Given the description of an element on the screen output the (x, y) to click on. 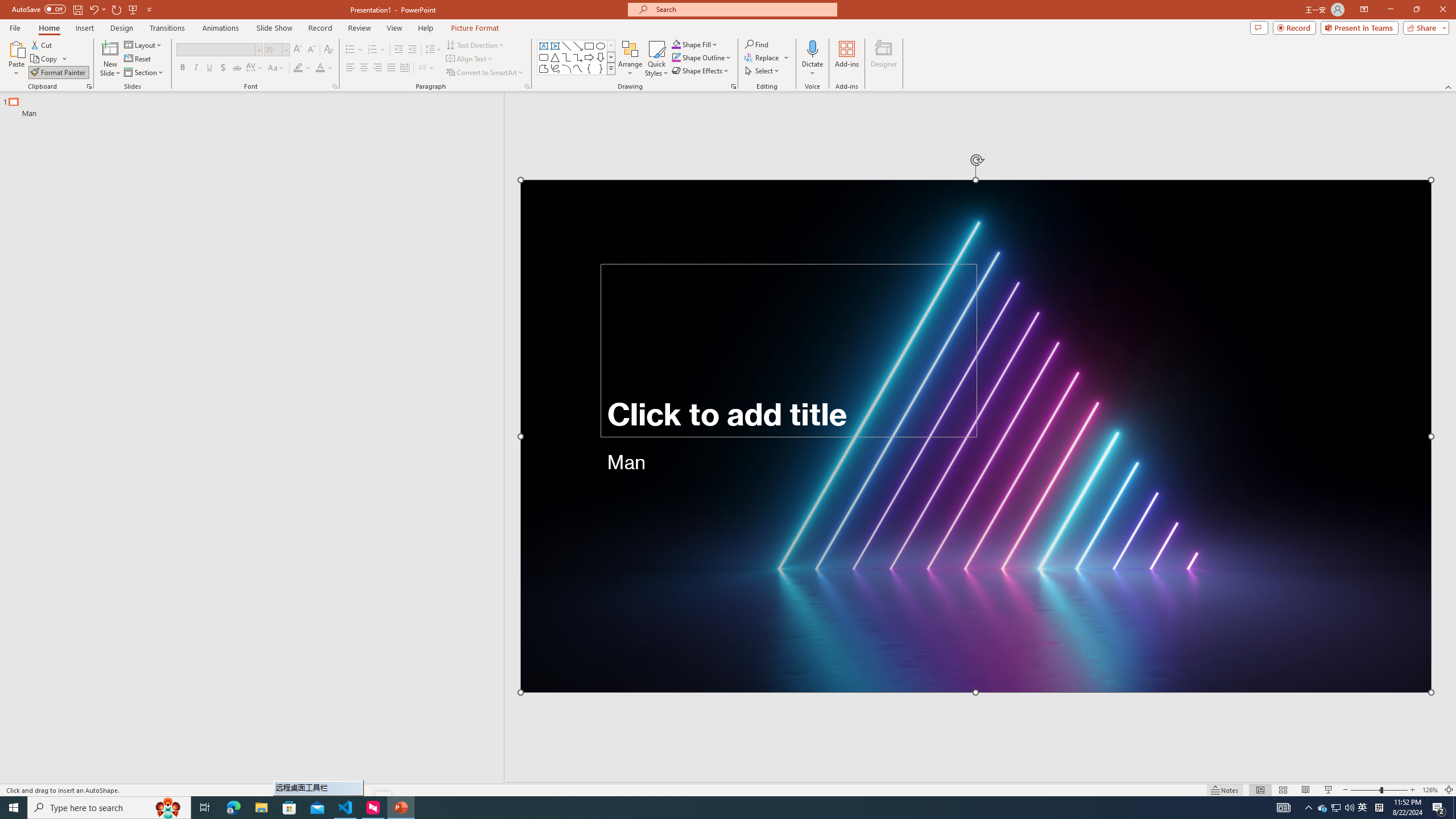
Character Spacing (254, 67)
Class: MsoCommandBar (728, 789)
Format Object... (733, 85)
Numbering (376, 49)
Columns (426, 67)
Bullets (354, 49)
Paragraph... (526, 85)
Microsoft search (742, 9)
Text Highlight Color Yellow (297, 67)
Vertical Text Box (554, 45)
Cut (42, 44)
